Given the description of an element on the screen output the (x, y) to click on. 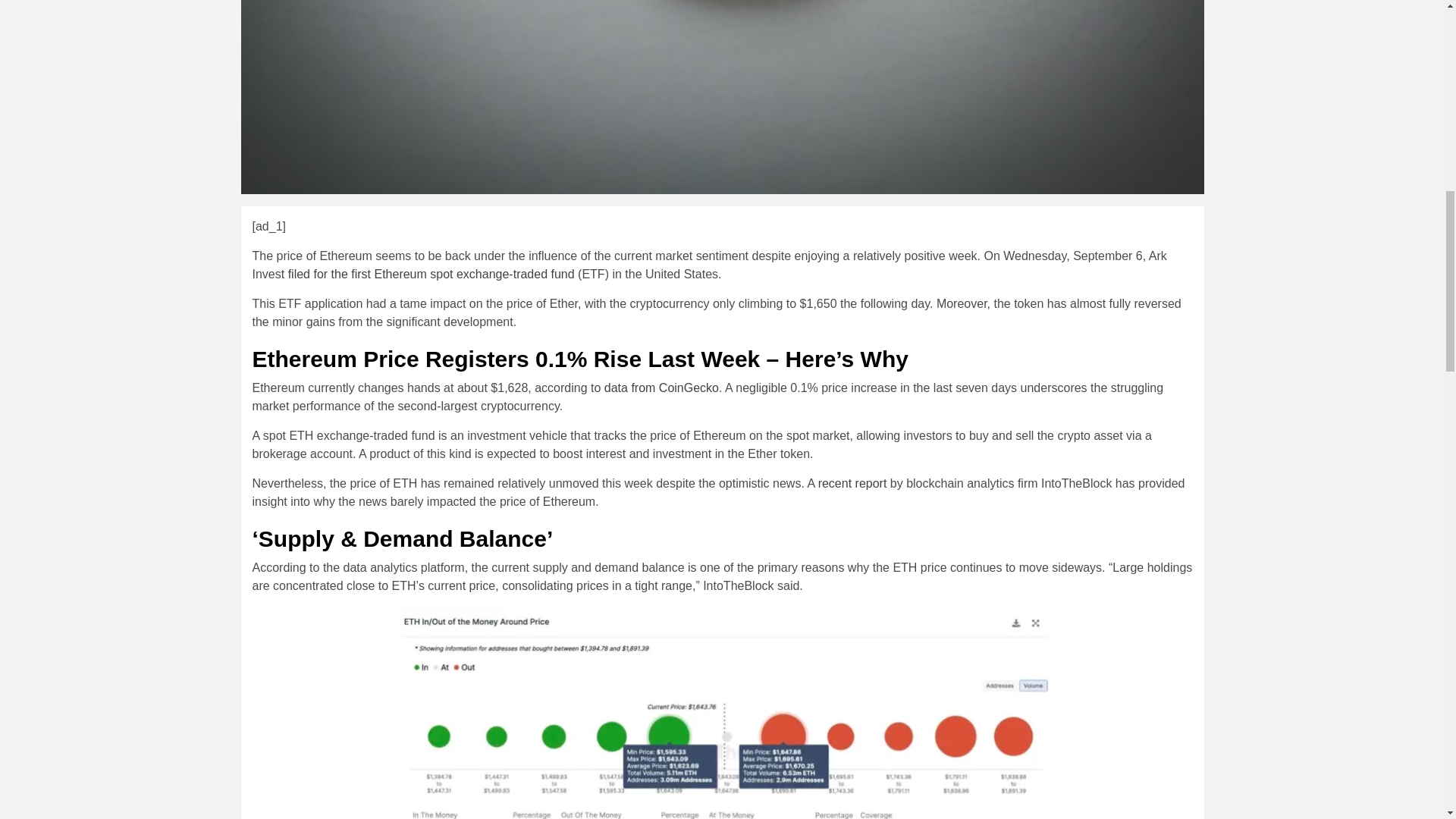
filed for the first Ethereum spot exchange-traded fund (431, 273)
data from CoinGecko (661, 387)
recent report (852, 482)
